Given the description of an element on the screen output the (x, y) to click on. 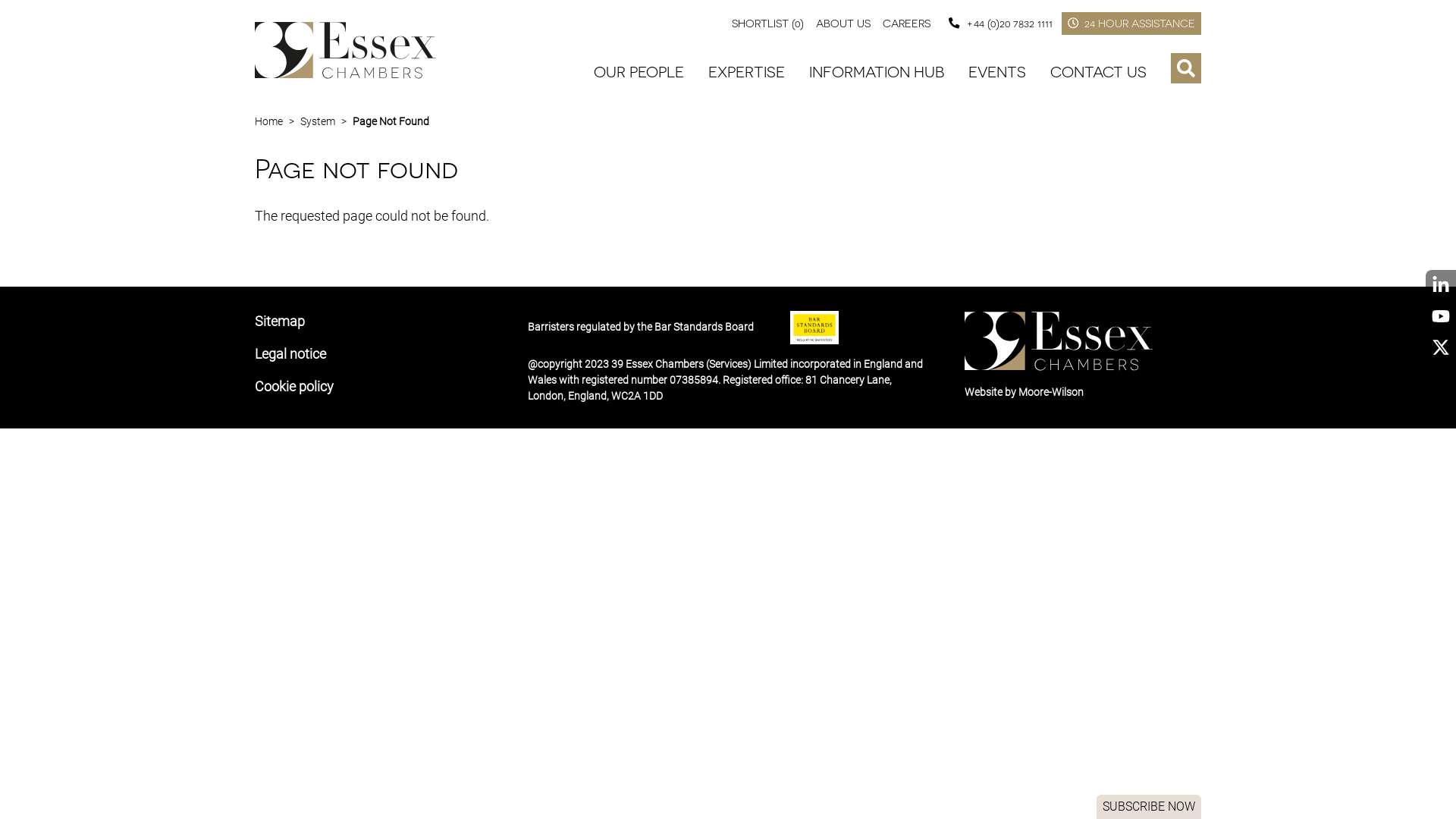
Legal notice Element type: text (290, 353)
Skip to main content Element type: text (0, 0)
Home Element type: text (268, 121)
Cookie policy Element type: text (293, 386)
SHORTLIST (0) Element type: text (767, 22)
CAREERS Element type: text (906, 22)
EXPERTISE Element type: text (746, 71)
24 HOUR ASSISTANCE Element type: text (1131, 23)
CONTACT US Element type: text (1098, 71)
Website by Moore-Wilson Element type: text (1023, 391)
+44 (0)20 7832 1111 Element type: text (996, 22)
INFORMATION HUB Element type: text (876, 71)
ABOUT US Element type: text (842, 22)
Sitemap Element type: text (279, 321)
EVENTS Element type: text (997, 71)
OUR PEOPLE Element type: text (638, 71)
